Given the description of an element on the screen output the (x, y) to click on. 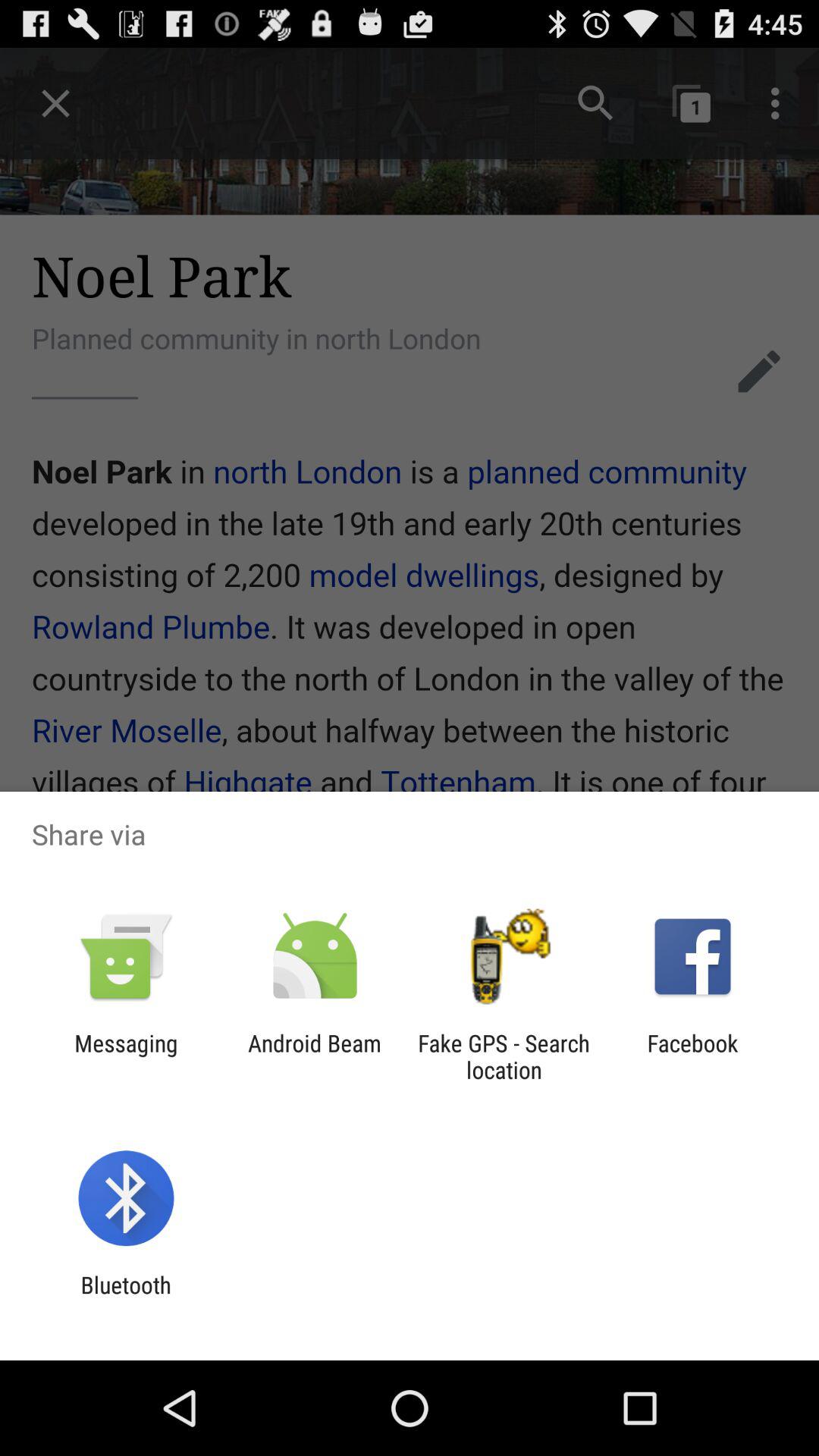
scroll to the bluetooth icon (125, 1298)
